Given the description of an element on the screen output the (x, y) to click on. 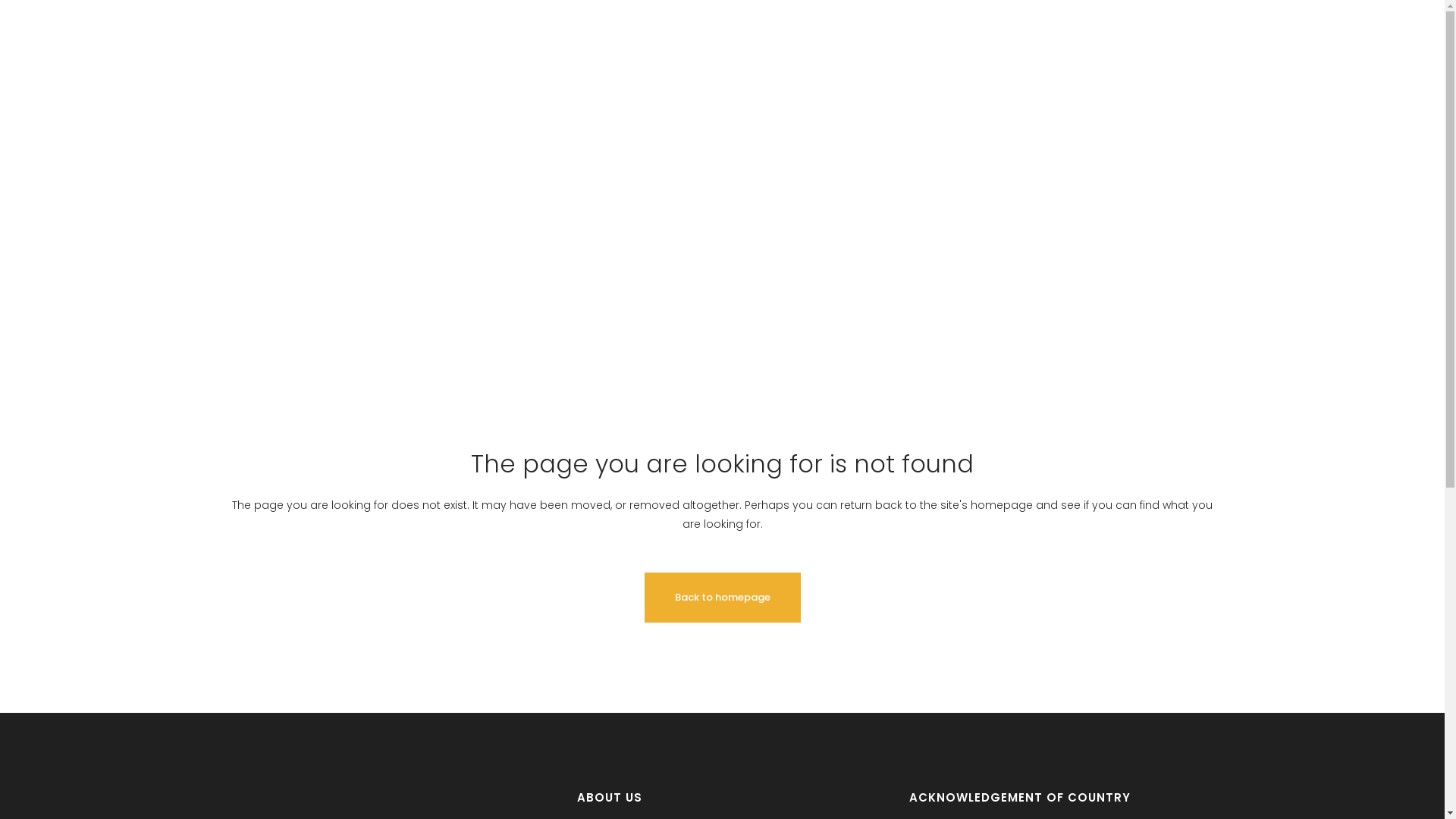
BLOG Element type: text (1143, 35)
Back to homepage Element type: text (722, 597)
CONTACT Element type: text (1263, 35)
PORTFOLIO Element type: text (970, 35)
DESIGN STYLE Element type: text (881, 35)
ABOUT Element type: text (804, 35)
MEDIA Element type: text (1197, 35)
HOME Element type: text (747, 35)
SUSTAINABILITY Element type: text (1064, 35)
